Given the description of an element on the screen output the (x, y) to click on. 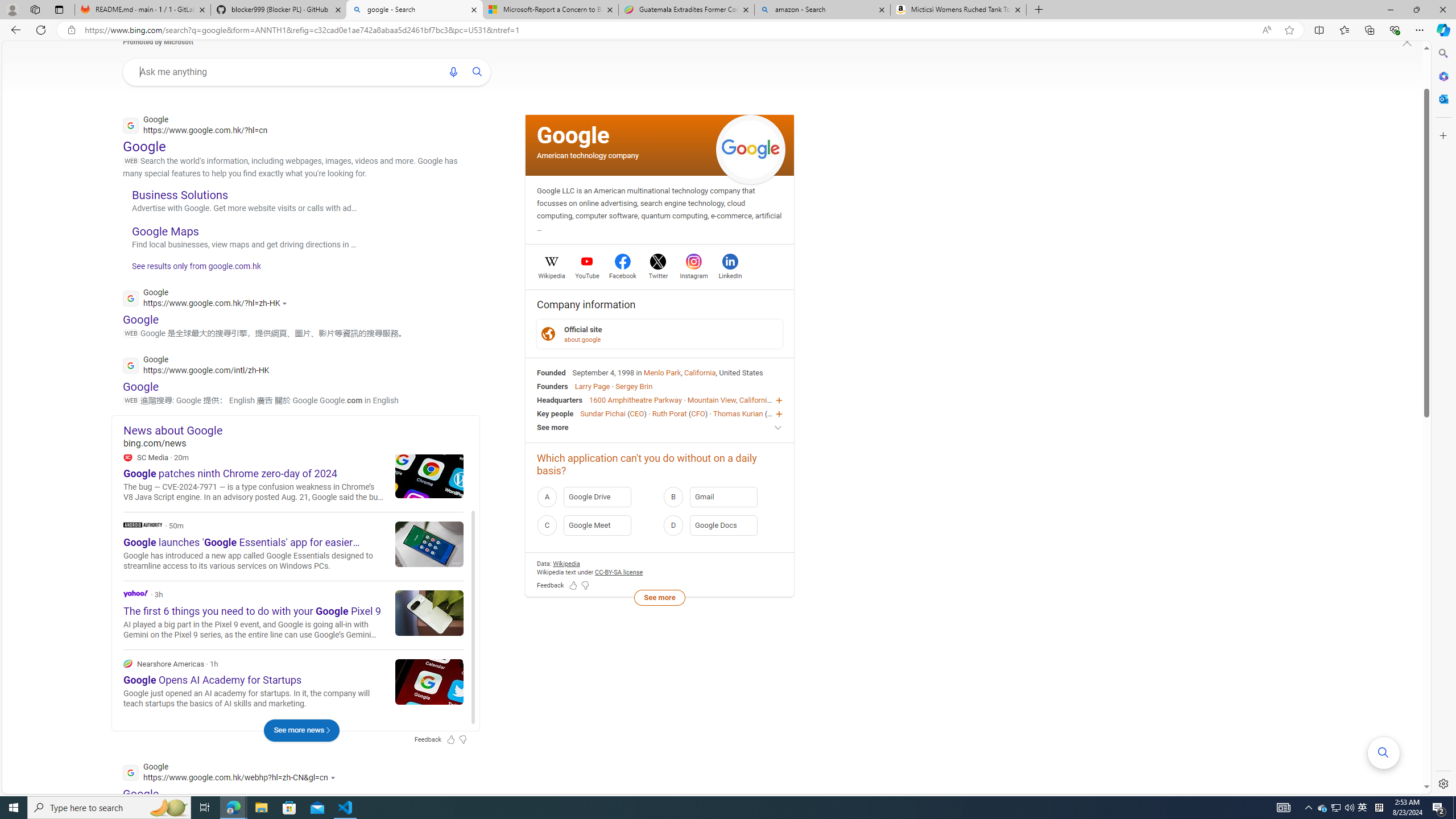
bing.com/news (301, 442)
Close (1442, 9)
Copy (432, 483)
Back (13, 29)
CFO (697, 412)
California (700, 371)
Class: sp-ofsite (547, 333)
Feedback Dislike (584, 585)
YouTube (587, 274)
Browser essentials (1394, 29)
AutomationID: mfa_root (1383, 752)
SC Media (127, 456)
Outlook (1442, 98)
Wikipedia (551, 274)
Personal Profile (12, 9)
